Given the description of an element on the screen output the (x, y) to click on. 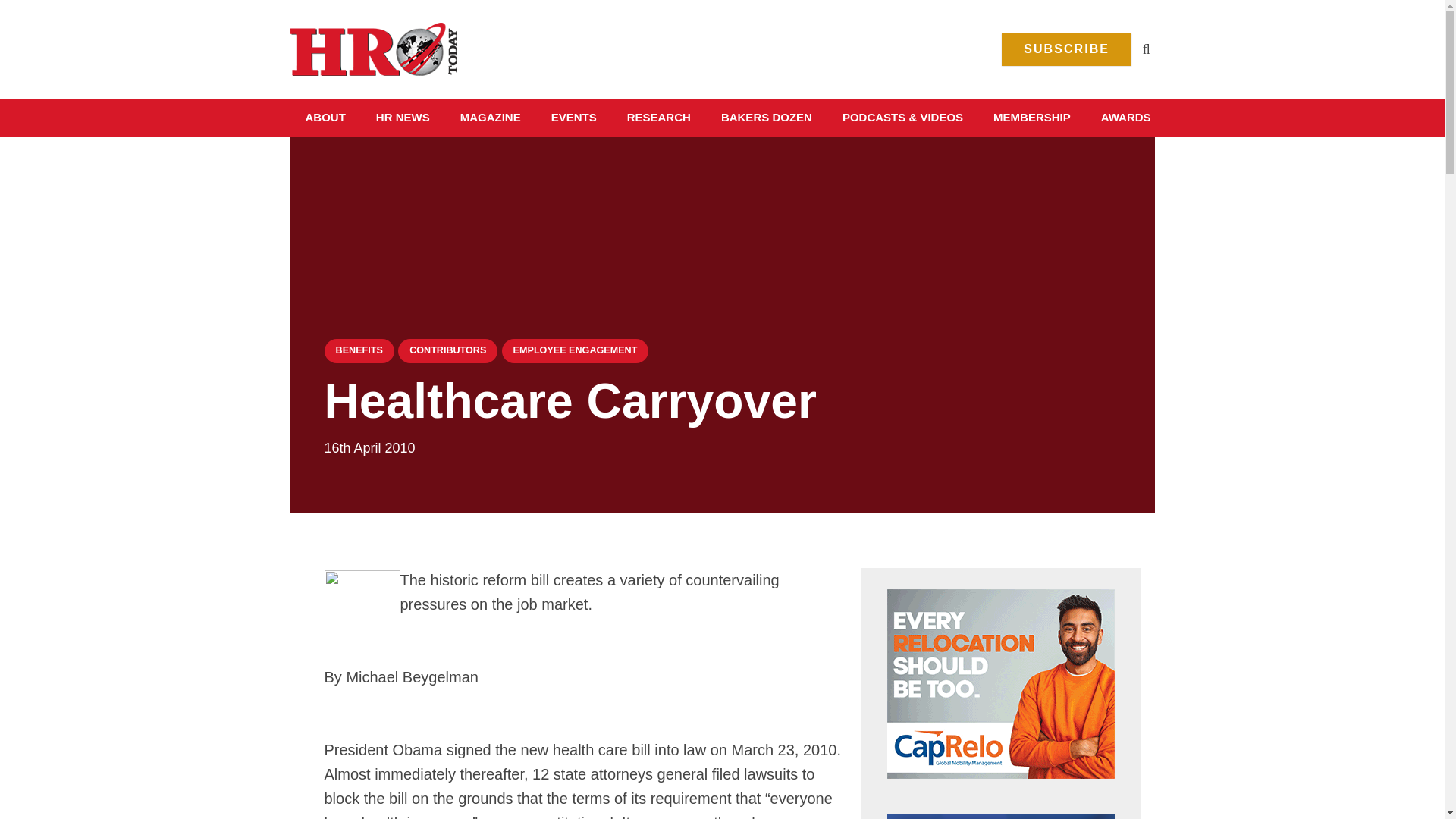
RESEARCH (658, 117)
EVENTS (573, 117)
SUBSCRIBE (1066, 49)
MAGAZINE (490, 117)
ABOUT (324, 117)
HR NEWS (403, 117)
